Given the description of an element on the screen output the (x, y) to click on. 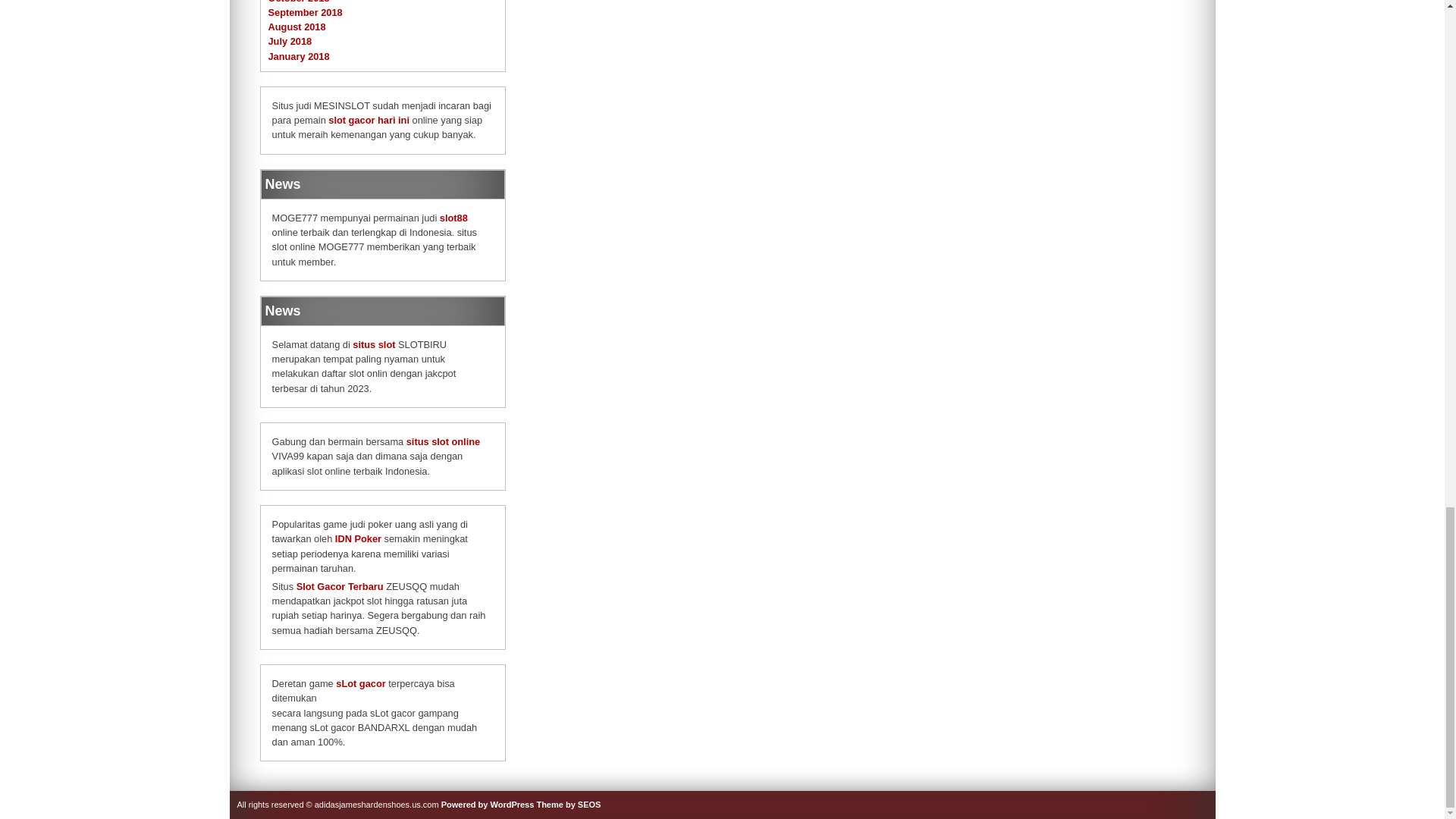
Seos free wordpress themes (567, 804)
